Given the description of an element on the screen output the (x, y) to click on. 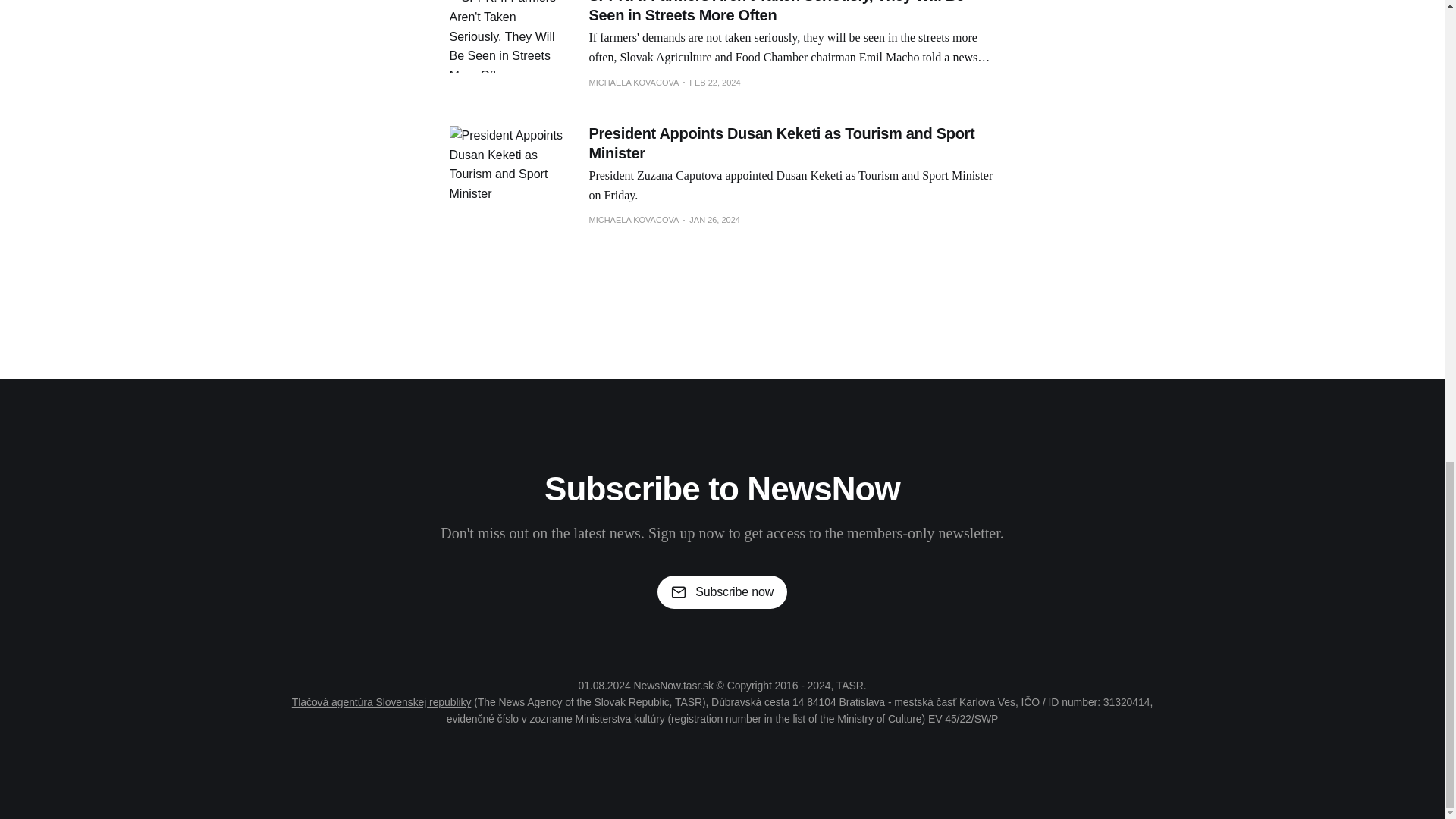
Subscribe now (722, 592)
